Given the description of an element on the screen output the (x, y) to click on. 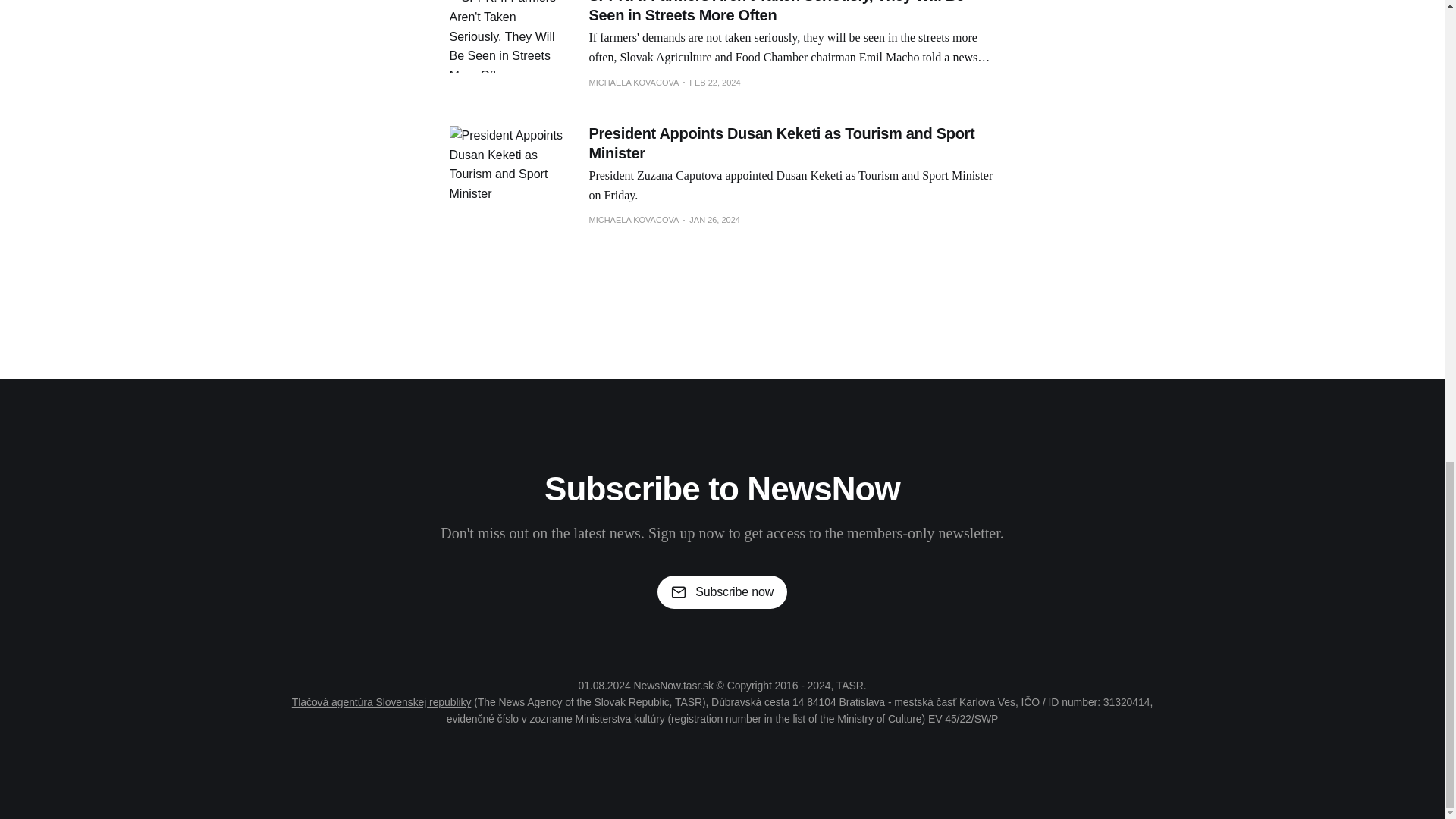
Subscribe now (722, 592)
